Given the description of an element on the screen output the (x, y) to click on. 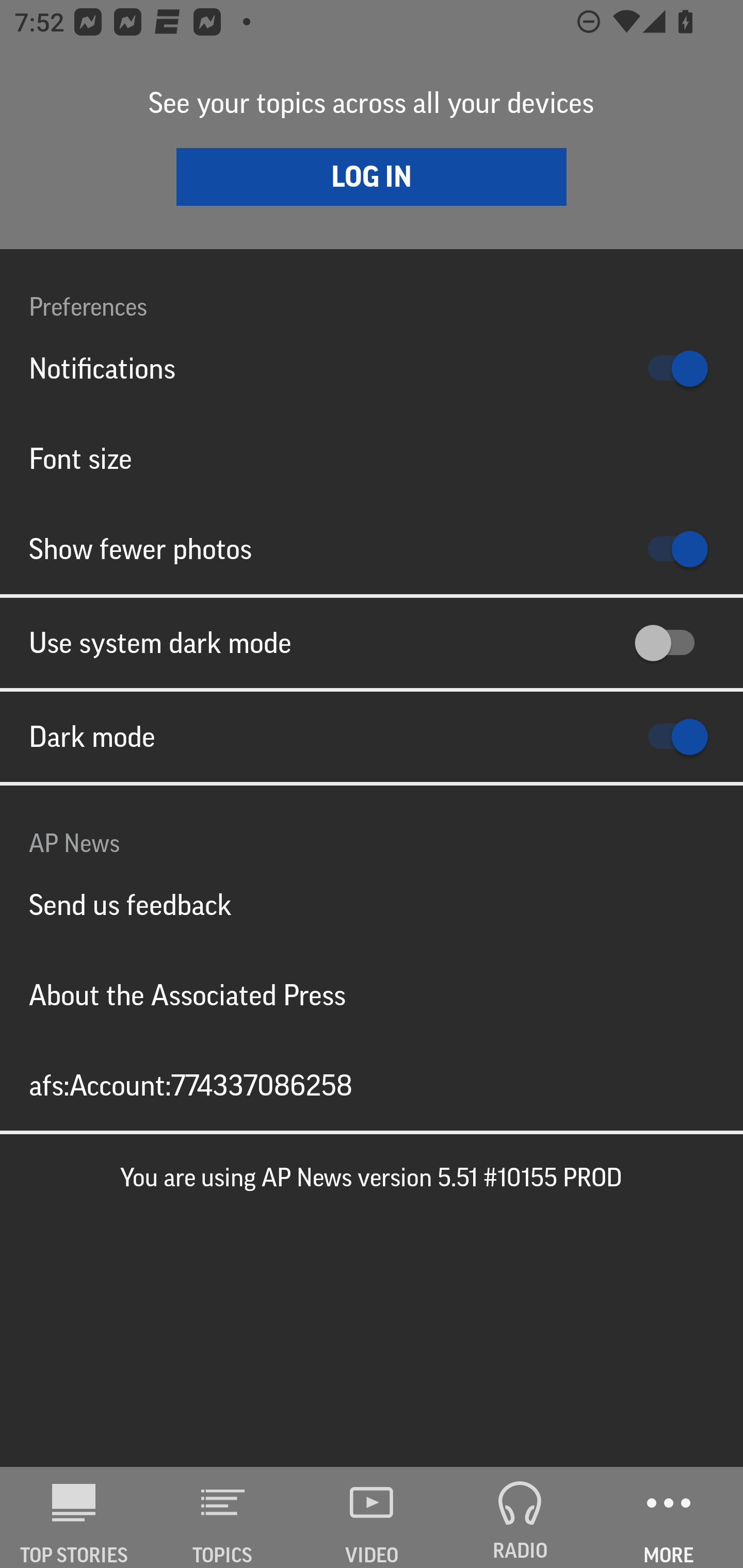
LOG IN (371, 176)
Notifications (371, 368)
Font size (371, 458)
Show fewer photos (371, 548)
Use system dark mode (371, 642)
Dark mode (371, 736)
Send us feedback (371, 904)
About the Associated Press (371, 994)
afs:Account:774337086258 (371, 1084)
AP News TOP STORIES (74, 1517)
TOPICS (222, 1517)
VIDEO (371, 1517)
RADIO (519, 1517)
MORE (668, 1517)
